Given the description of an element on the screen output the (x, y) to click on. 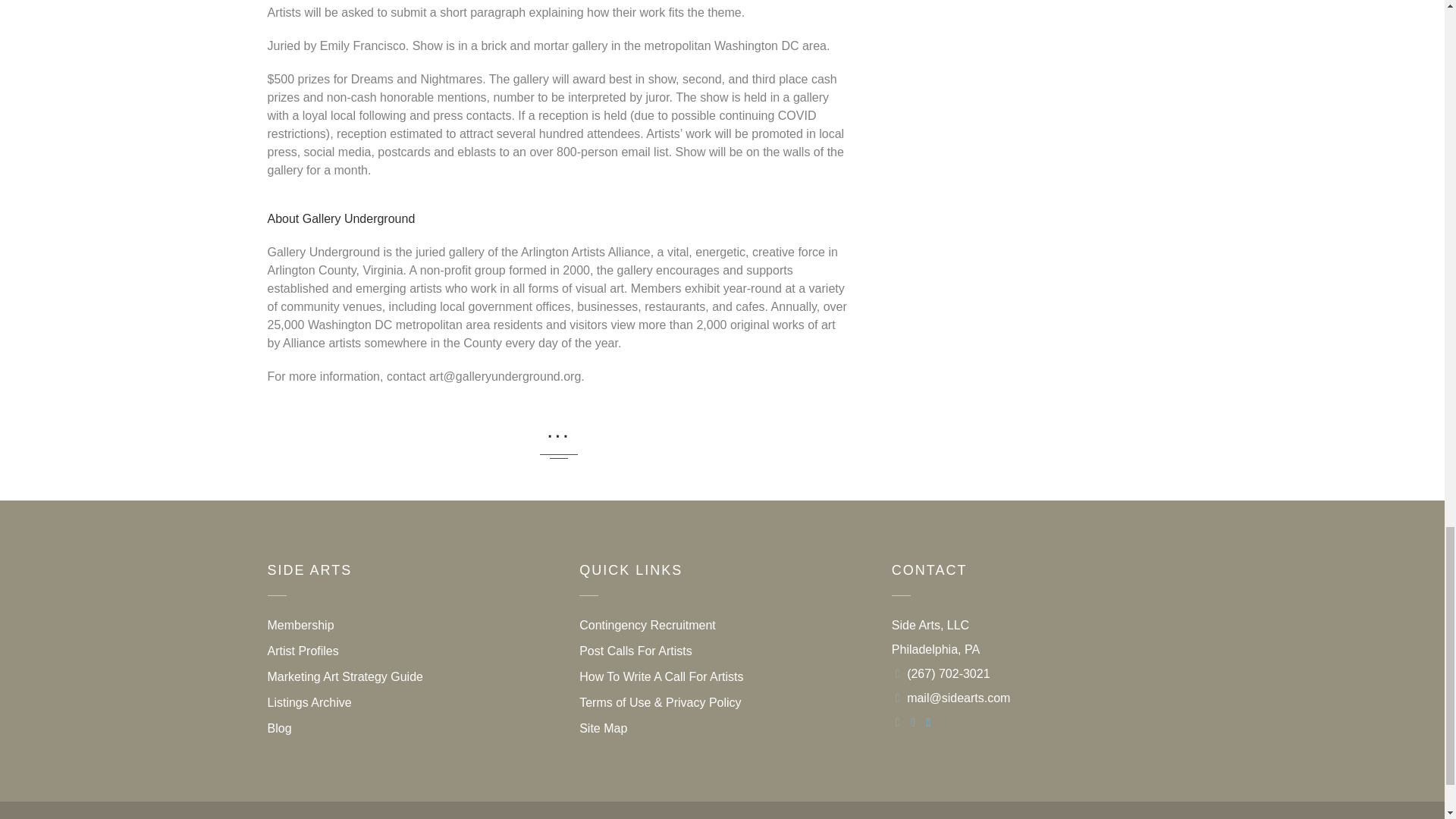
Marketing Art Strategy Guide (344, 676)
Membership (299, 625)
Blog (278, 727)
Site Map (603, 727)
Listings Archive (308, 702)
Artist Profiles (301, 650)
Post Calls For Artists (635, 650)
Contingency Recruitment (647, 625)
How To Write A Call For Artists (660, 676)
